Given the description of an element on the screen output the (x, y) to click on. 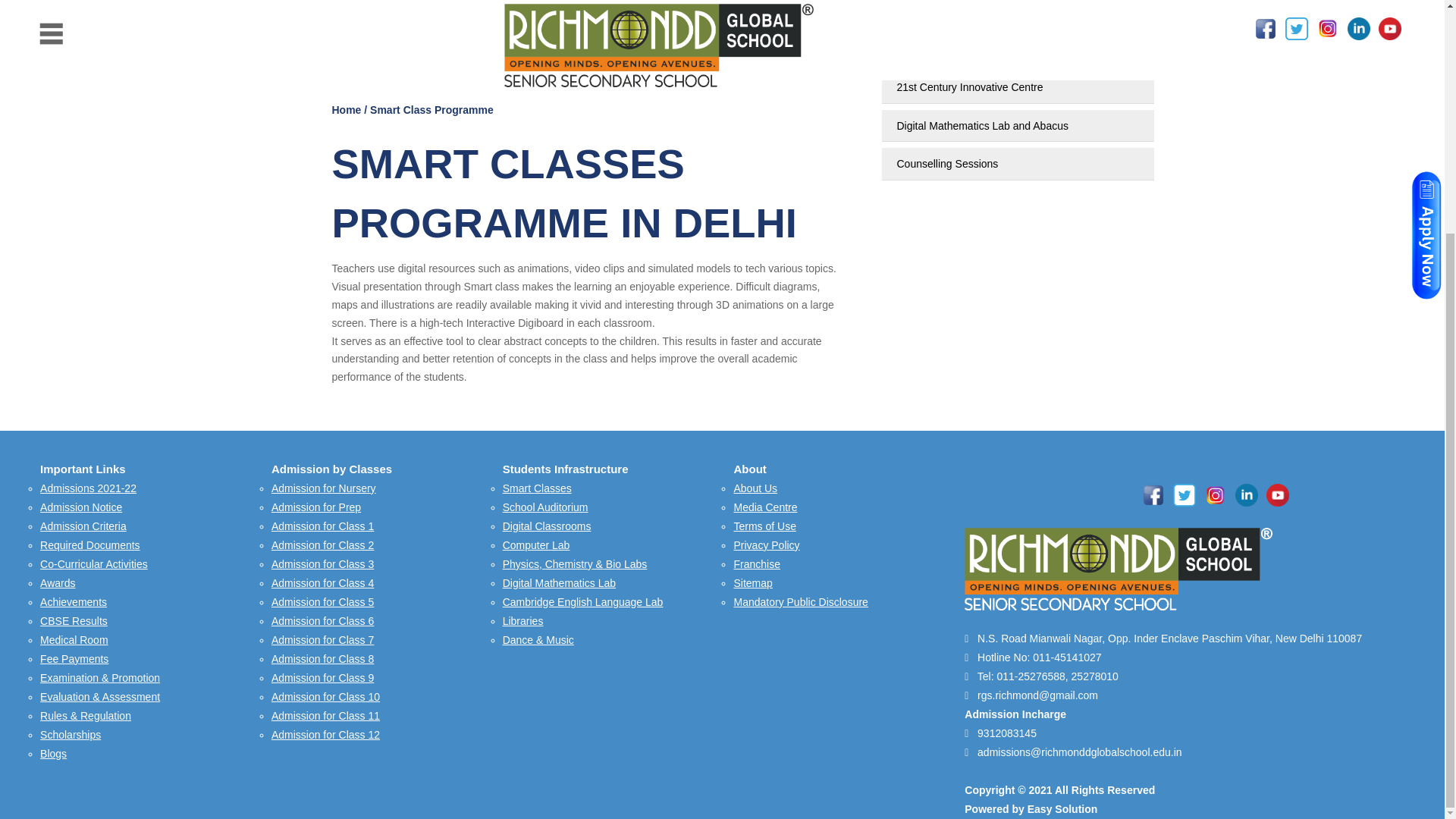
Instagram id logo (1215, 495)
Facebook page logo (1152, 495)
YouTube Channel Logo (1277, 495)
SMART CLASSES PROGRAMME (589, 39)
LinkedIn id logo (1245, 495)
Twitter page logo (1184, 495)
